Given the description of an element on the screen output the (x, y) to click on. 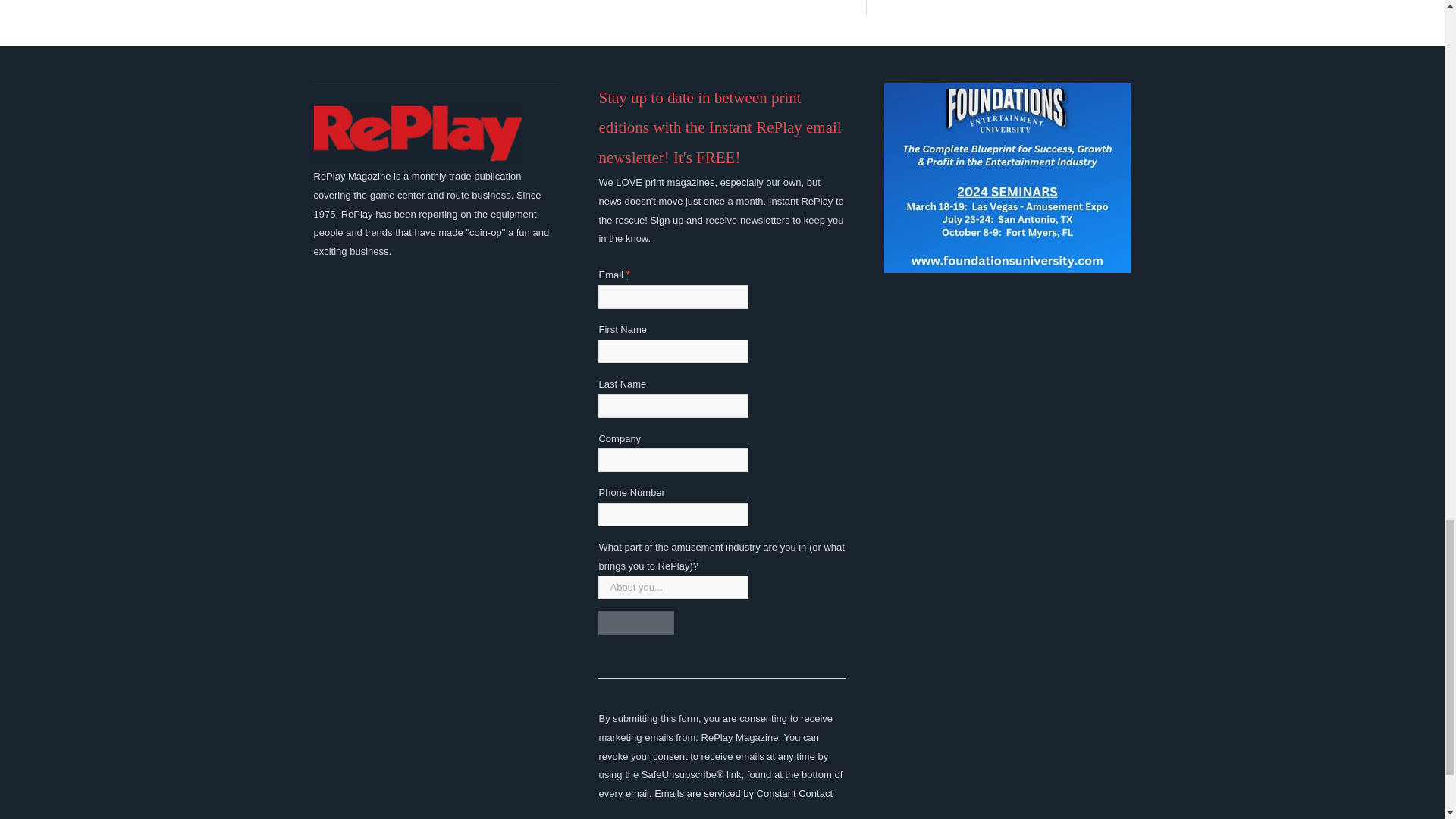
Sign me up! (635, 622)
